Given the description of an element on the screen output the (x, y) to click on. 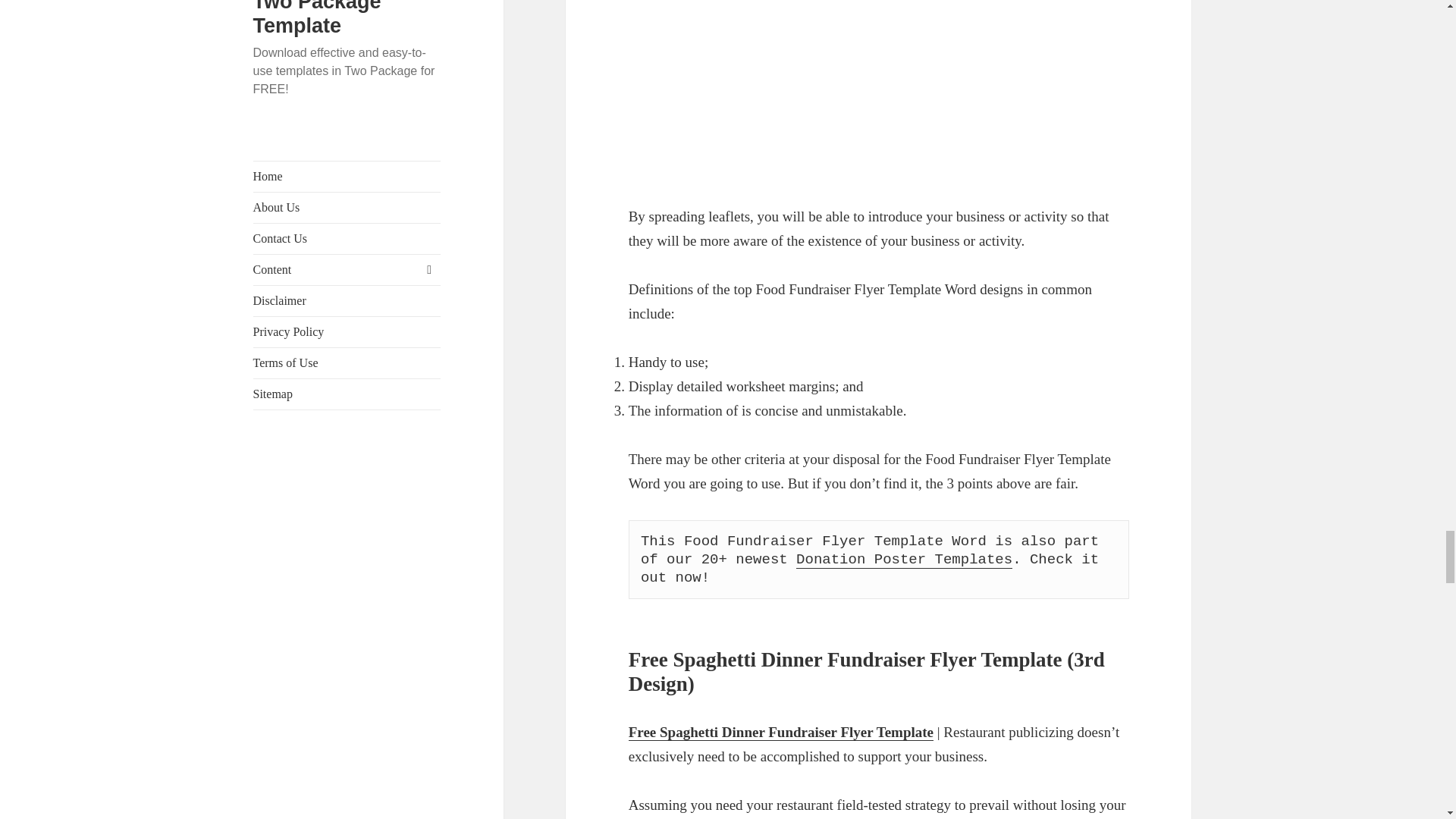
Donation Poster Templates (903, 559)
Free Spaghetti Dinner Fundraiser Flyer Template (780, 732)
